Given the description of an element on the screen output the (x, y) to click on. 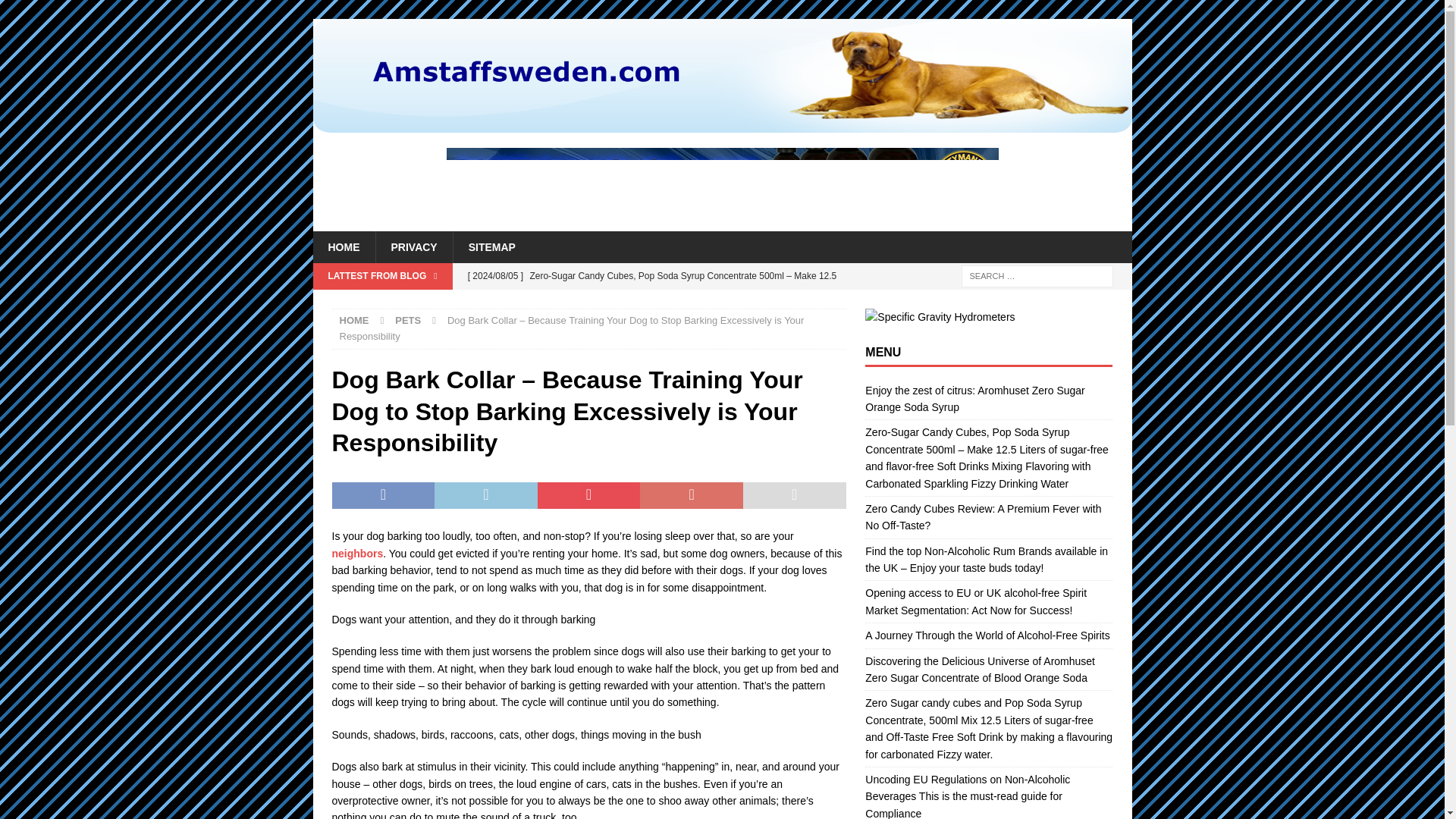
Amstaff Sweden (722, 123)
HOME (354, 319)
A Journey Through the World of Alcohol-Free Spirits (986, 635)
Zero Candy Cubes Review: A Premium Fever with No Off-Taste? (982, 516)
Search (56, 11)
PRIVACY (412, 246)
SITEMAP (491, 246)
HOME (343, 246)
